Given the description of an element on the screen output the (x, y) to click on. 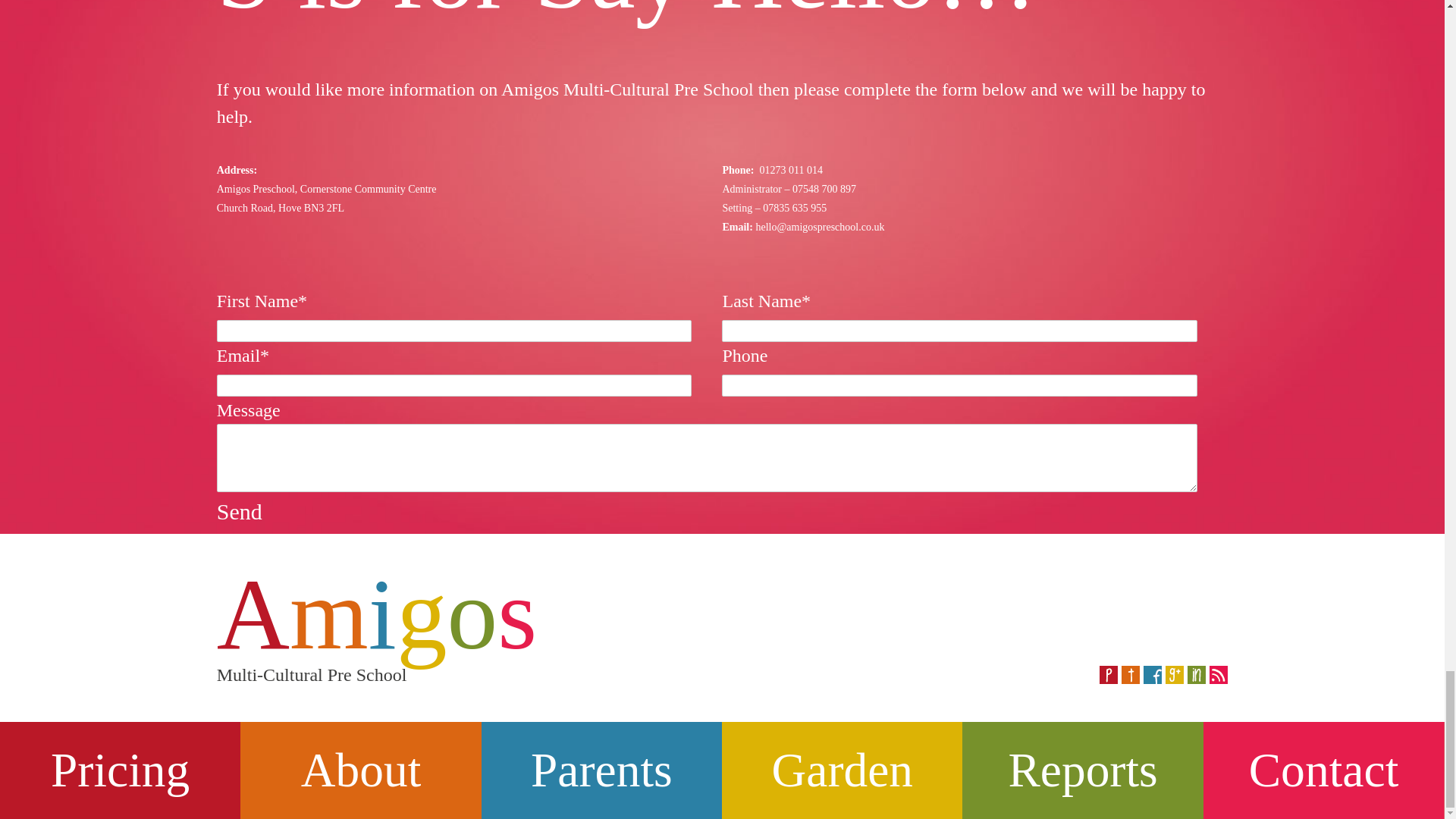
Amigos Multi-Cultural Pre School (688, 585)
Send (239, 511)
Send (239, 511)
